Given the description of an element on the screen output the (x, y) to click on. 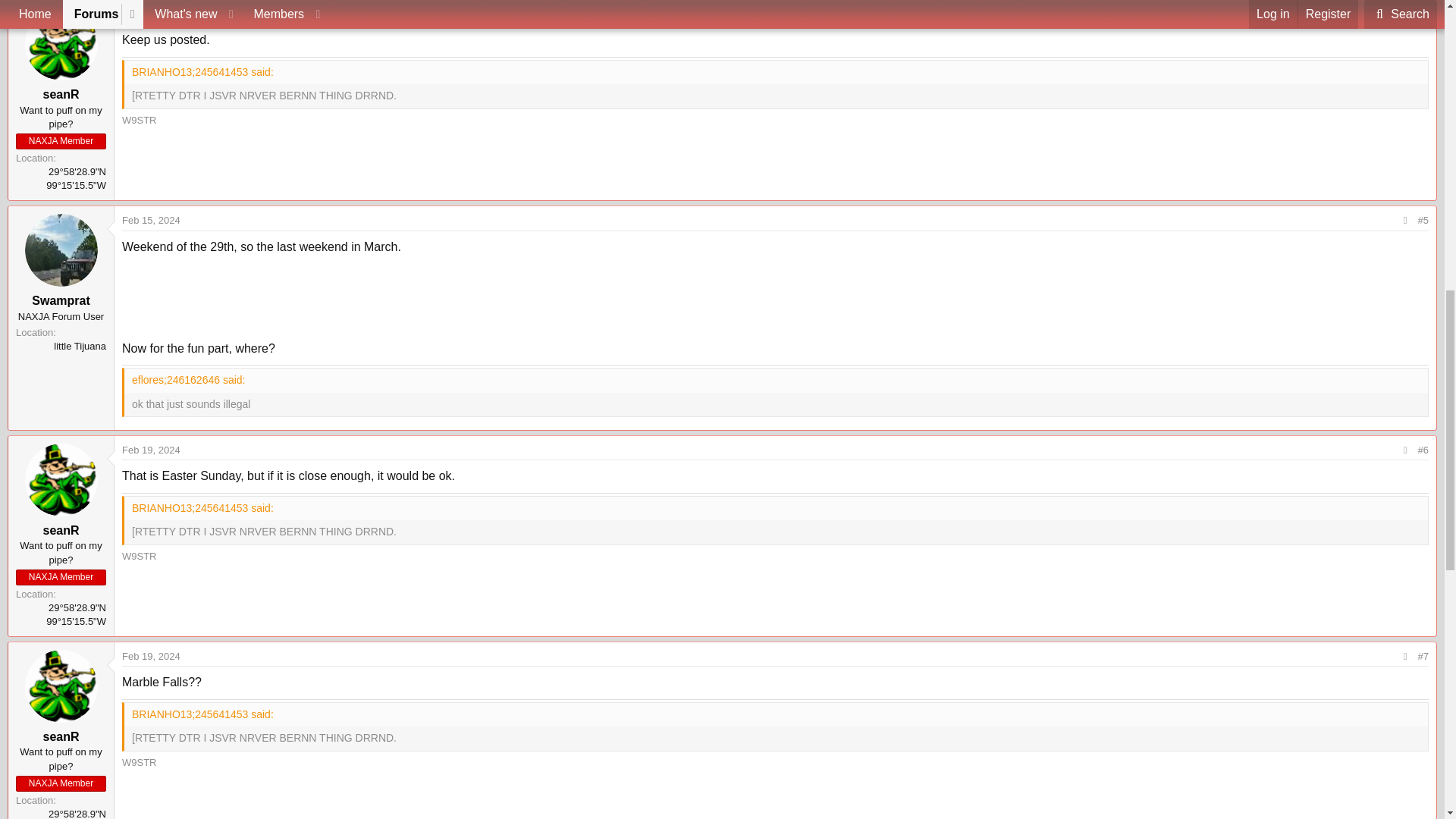
Feb 19, 2024 at 3:18 PM (151, 449)
Feb 15, 2024 at 12:32 AM (151, 220)
Feb 19, 2024 at 3:20 PM (151, 655)
Feb 6, 2024 at 4:37 PM (148, 13)
